Given the description of an element on the screen output the (x, y) to click on. 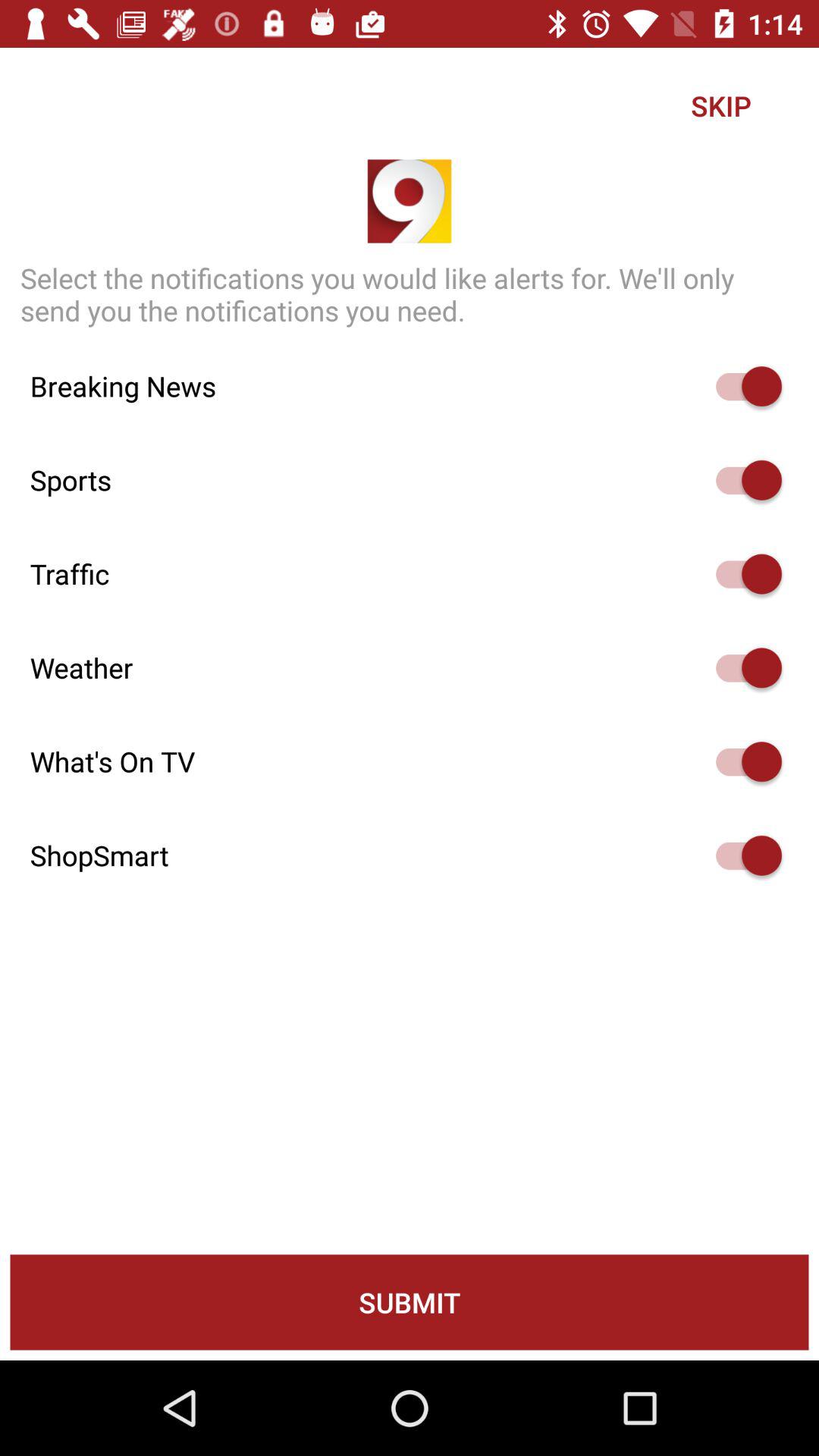
toggle traffic notification option (741, 574)
